Given the description of an element on the screen output the (x, y) to click on. 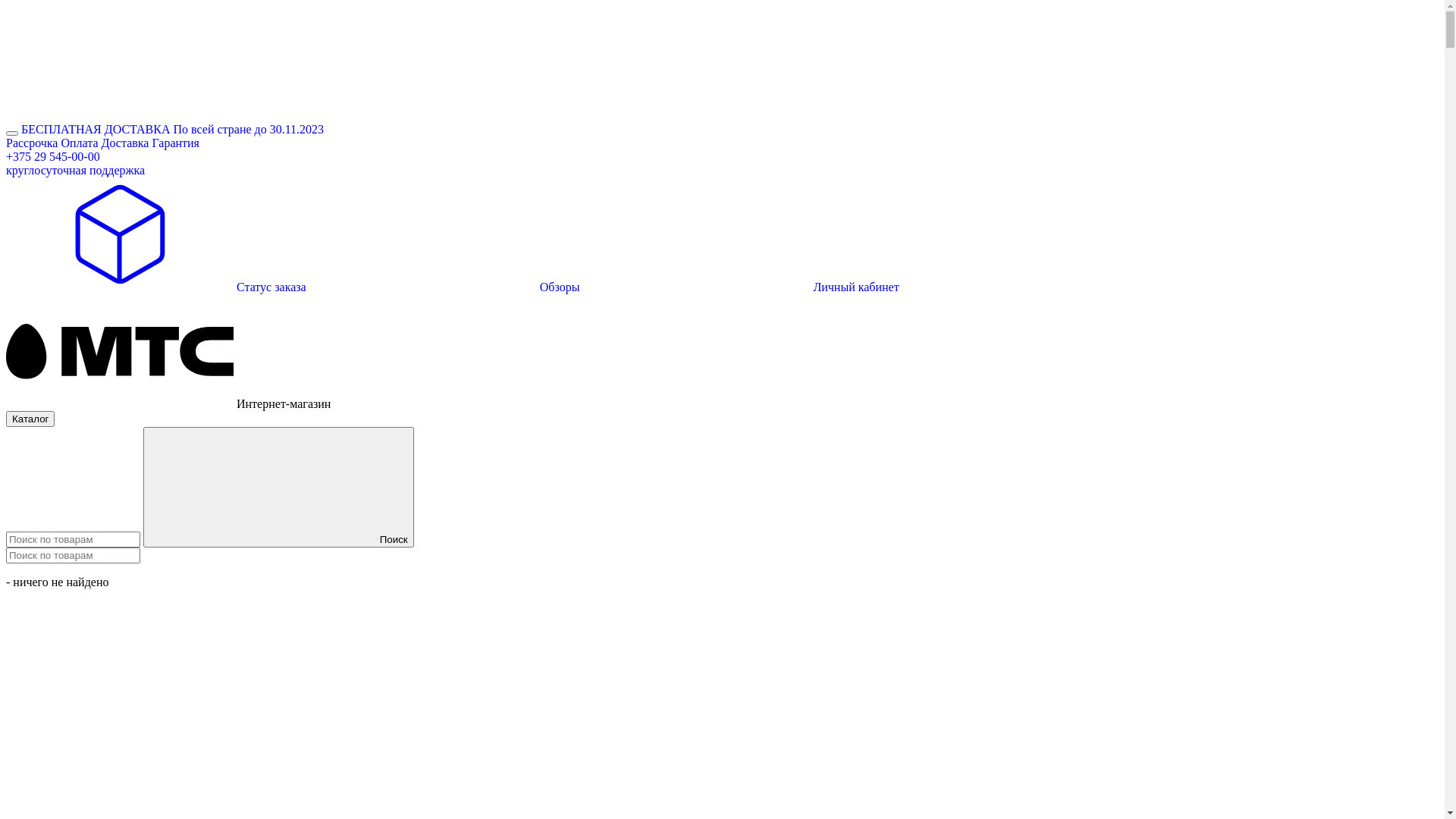
+375 29 545-00-00 Element type: text (53, 156)
